Given the description of an element on the screen output the (x, y) to click on. 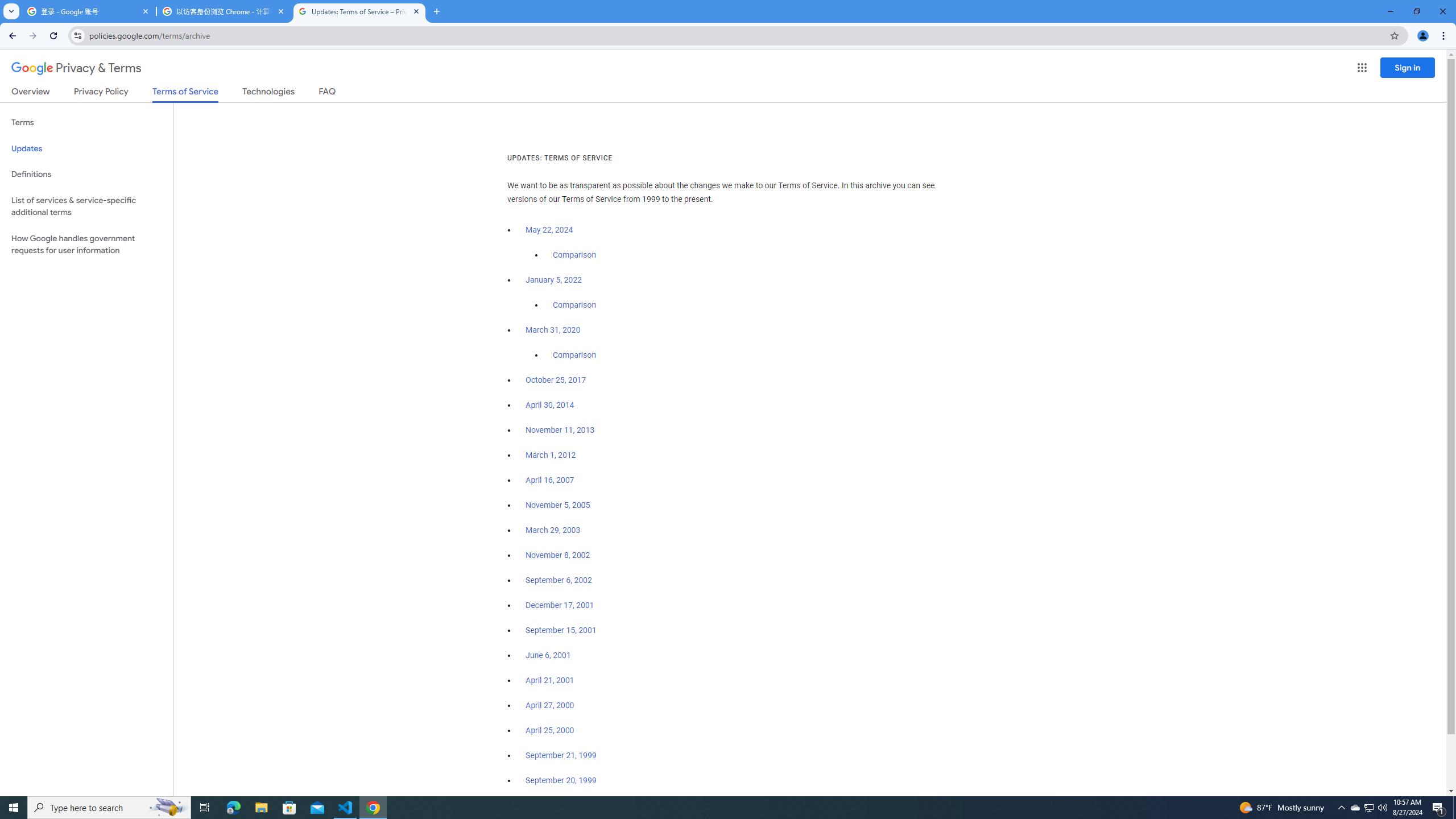
June 6, 2001 (547, 655)
March 29, 2003 (552, 530)
April 21, 2001 (550, 679)
January 5, 2022 (553, 280)
September 20, 1999 (560, 780)
March 31, 2020 (552, 330)
September 6, 2002 (558, 579)
Definitions (86, 174)
April 25, 2000 (550, 729)
March 1, 2012 (550, 455)
April 27, 2000 (550, 705)
October 25, 2017 (555, 380)
